Given the description of an element on the screen output the (x, y) to click on. 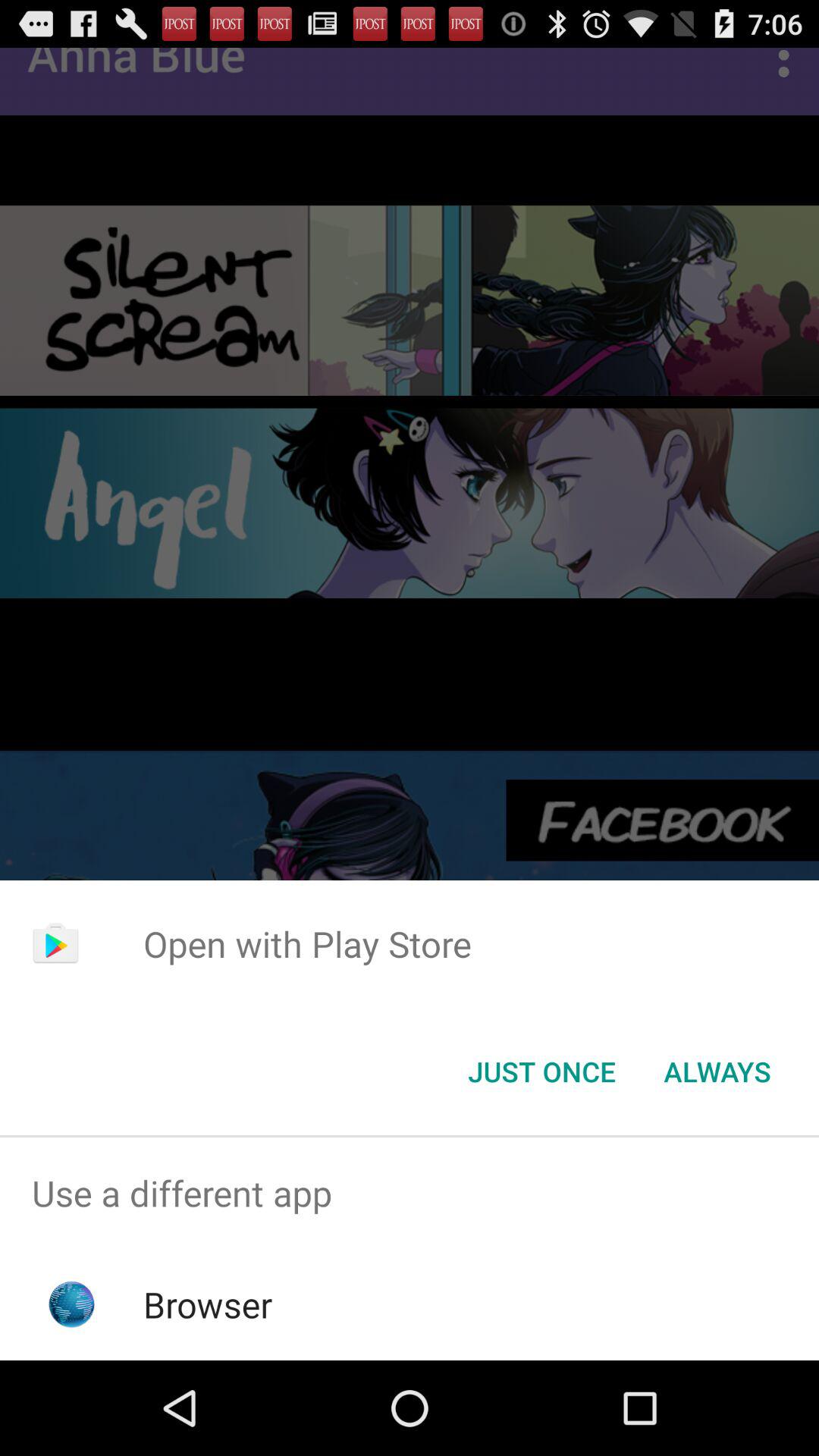
tap the item below the open with play (717, 1071)
